Given the description of an element on the screen output the (x, y) to click on. 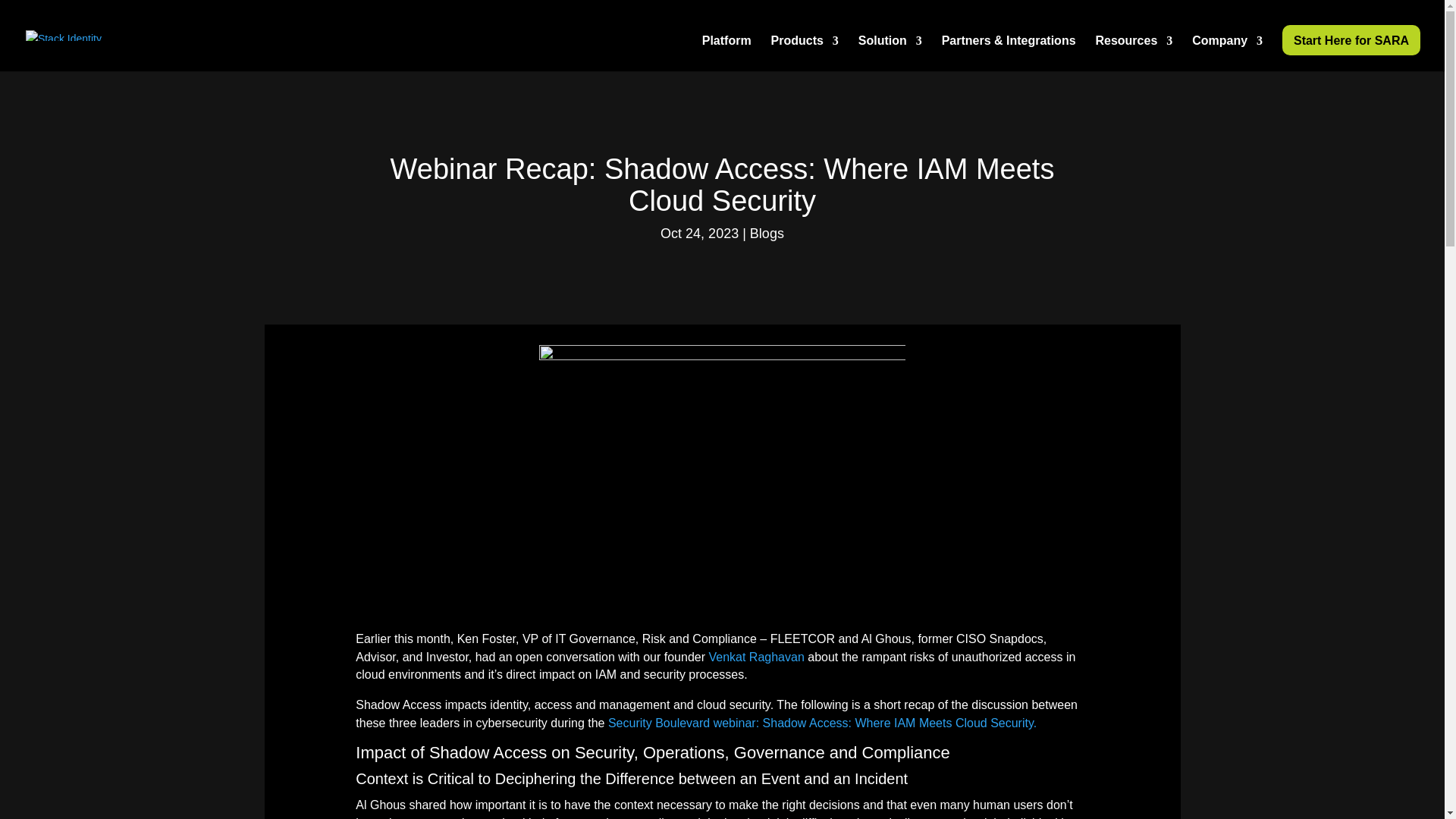
Company (1227, 53)
Blogs (766, 233)
Start Here for SARA (1351, 40)
Venkat Raghavan (755, 656)
Resources (1133, 53)
Solution (890, 53)
Platform (726, 53)
Products (804, 53)
Shadow Access: - 3 (721, 476)
